Given the description of an element on the screen output the (x, y) to click on. 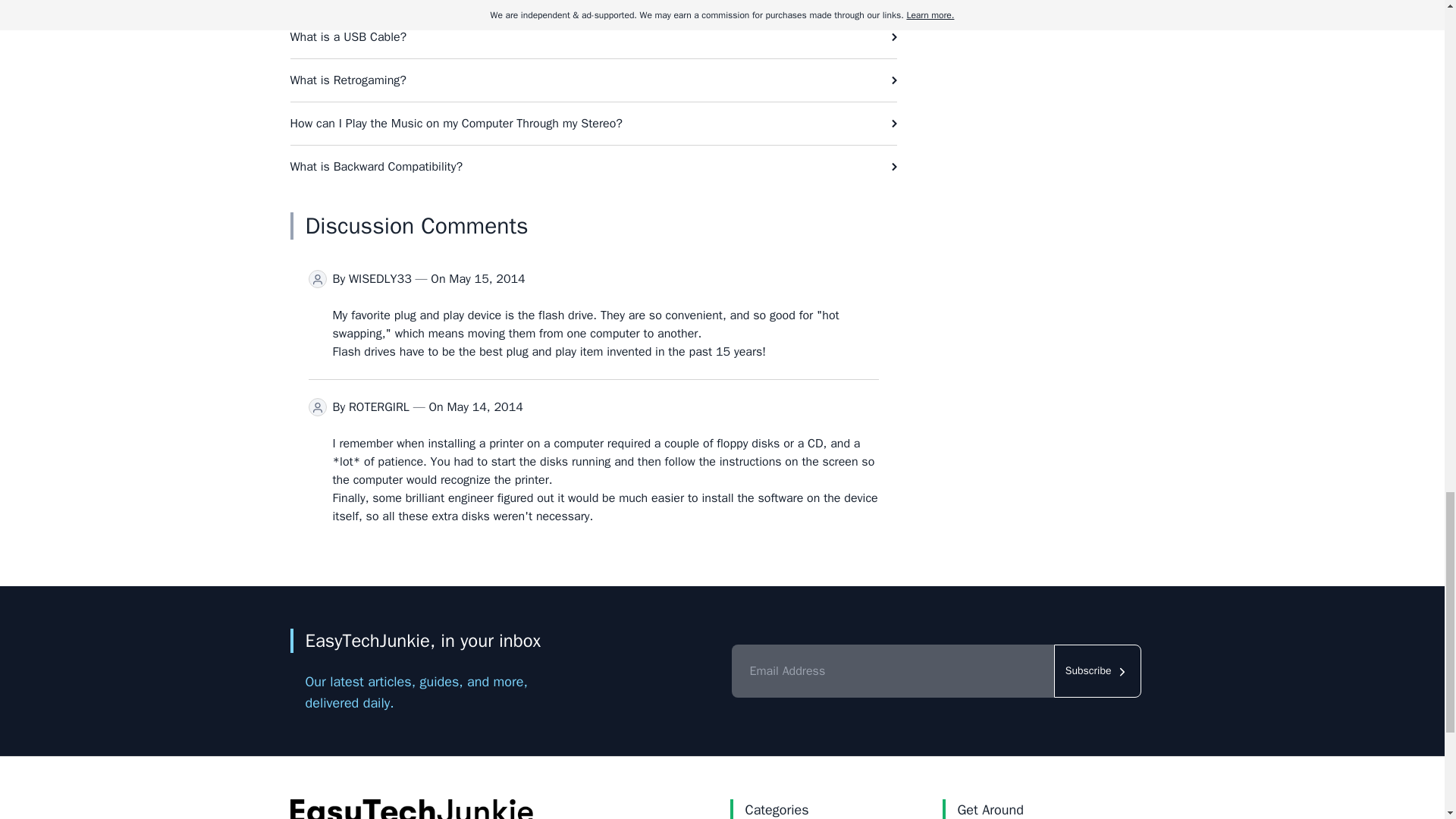
What is a USB Cable? (592, 36)
